Given the description of an element on the screen output the (x, y) to click on. 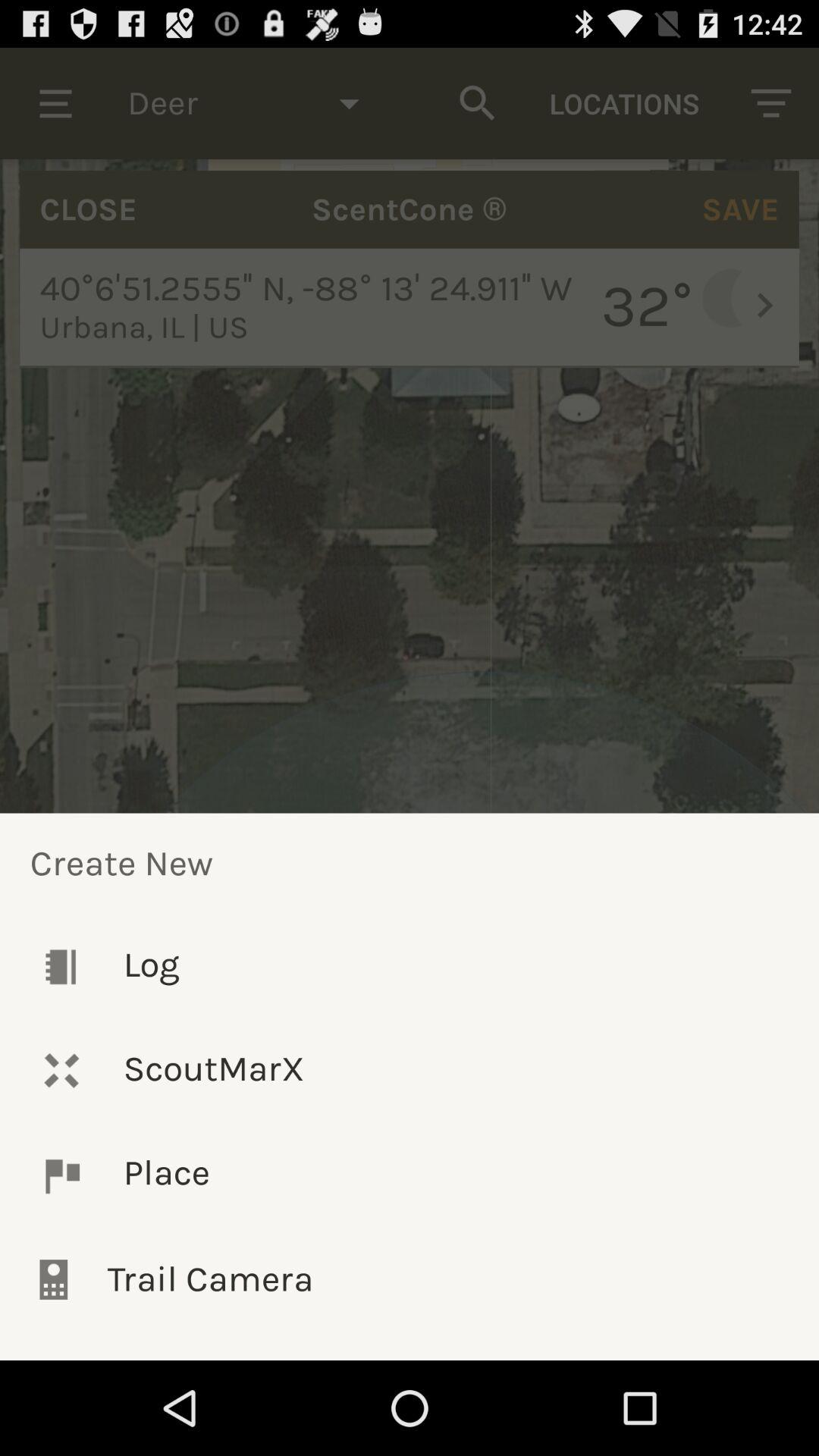
turn off log icon (409, 966)
